Given the description of an element on the screen output the (x, y) to click on. 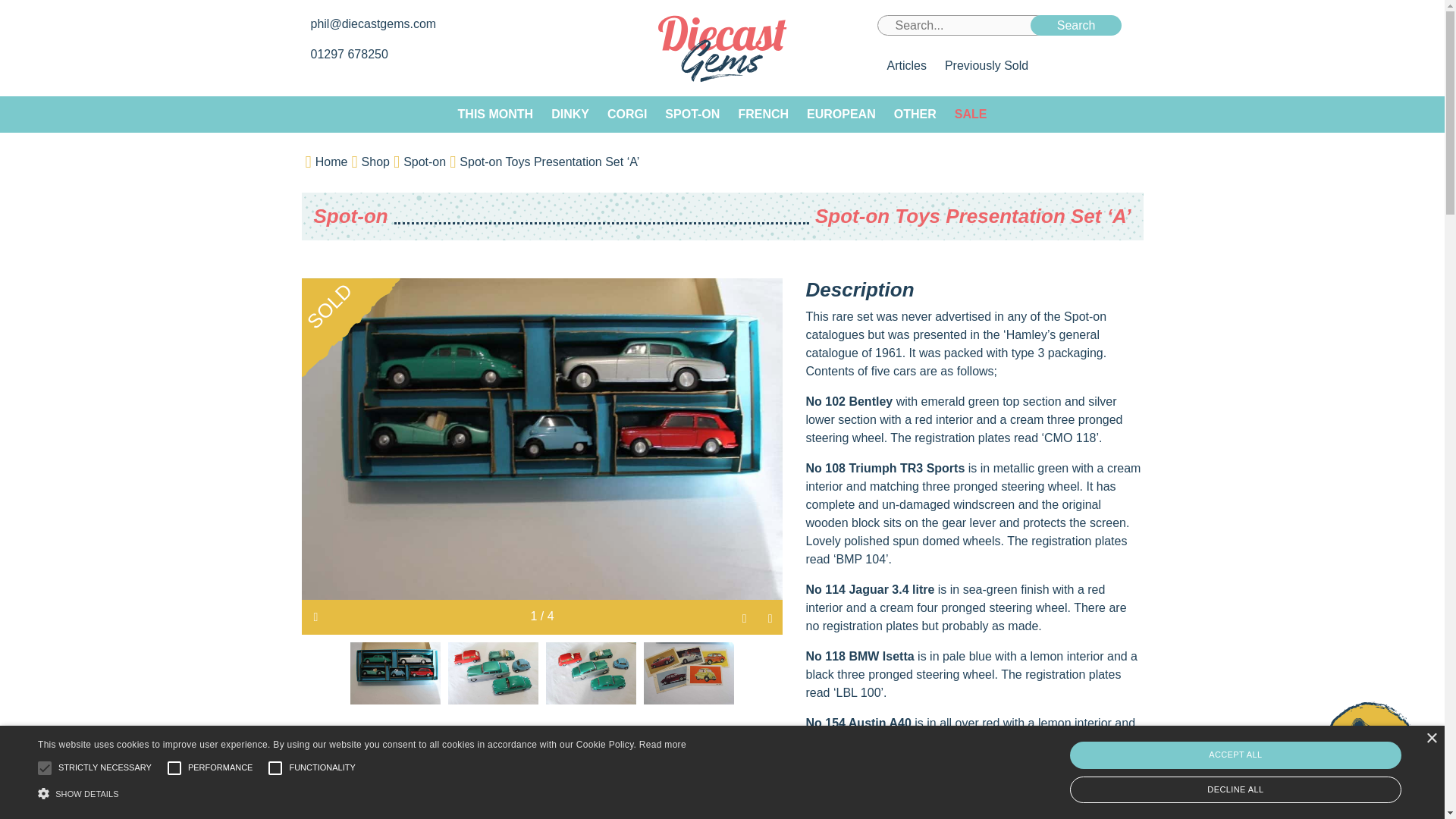
DINKY (569, 114)
THIS MONTH (495, 114)
FRENCH (763, 114)
Shop (375, 162)
Spot-on (351, 215)
EUROPEAN (841, 114)
OTHER (914, 114)
Home (331, 162)
Previously Sold (986, 65)
SPOT-ON (692, 114)
CORGI (627, 114)
Search (1076, 25)
01297 678250 (351, 53)
Spot-on (424, 162)
Articles (905, 65)
